Given the description of an element on the screen output the (x, y) to click on. 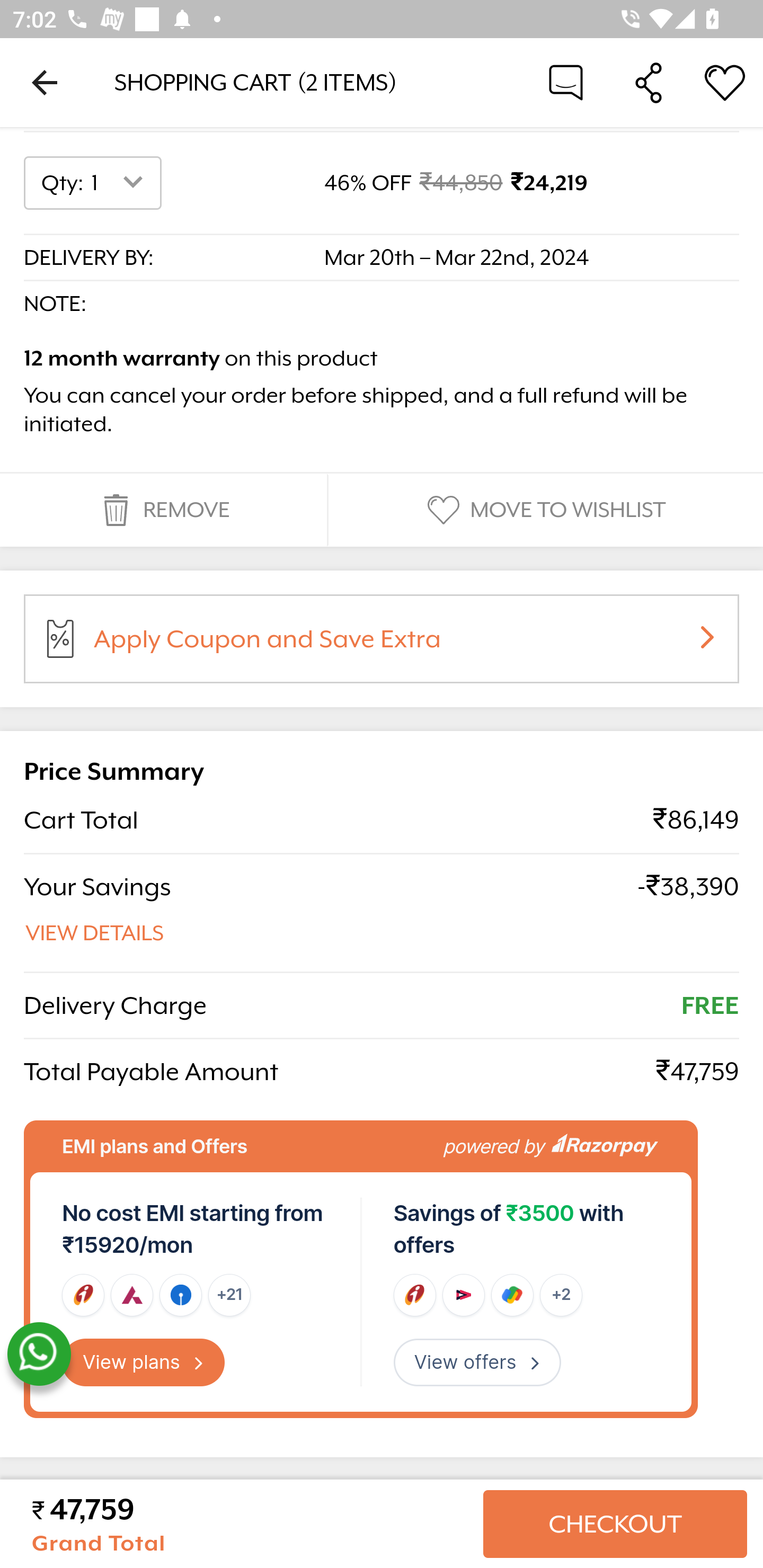
Navigate up (44, 82)
Chat (565, 81)
Share Cart (648, 81)
Wishlist (724, 81)
1 (121, 183)
REMOVE (163, 510)
MOVE TO WISHLIST (544, 510)
Apply Coupon and Save Extra (402, 645)
VIEW DETAILS (95, 933)
whatsapp (38, 1354)
View plans (143, 1362)
View offers (476, 1362)
₹ 47,759 Grand Total (250, 1523)
CHECKOUT (614, 1523)
